Given the description of an element on the screen output the (x, y) to click on. 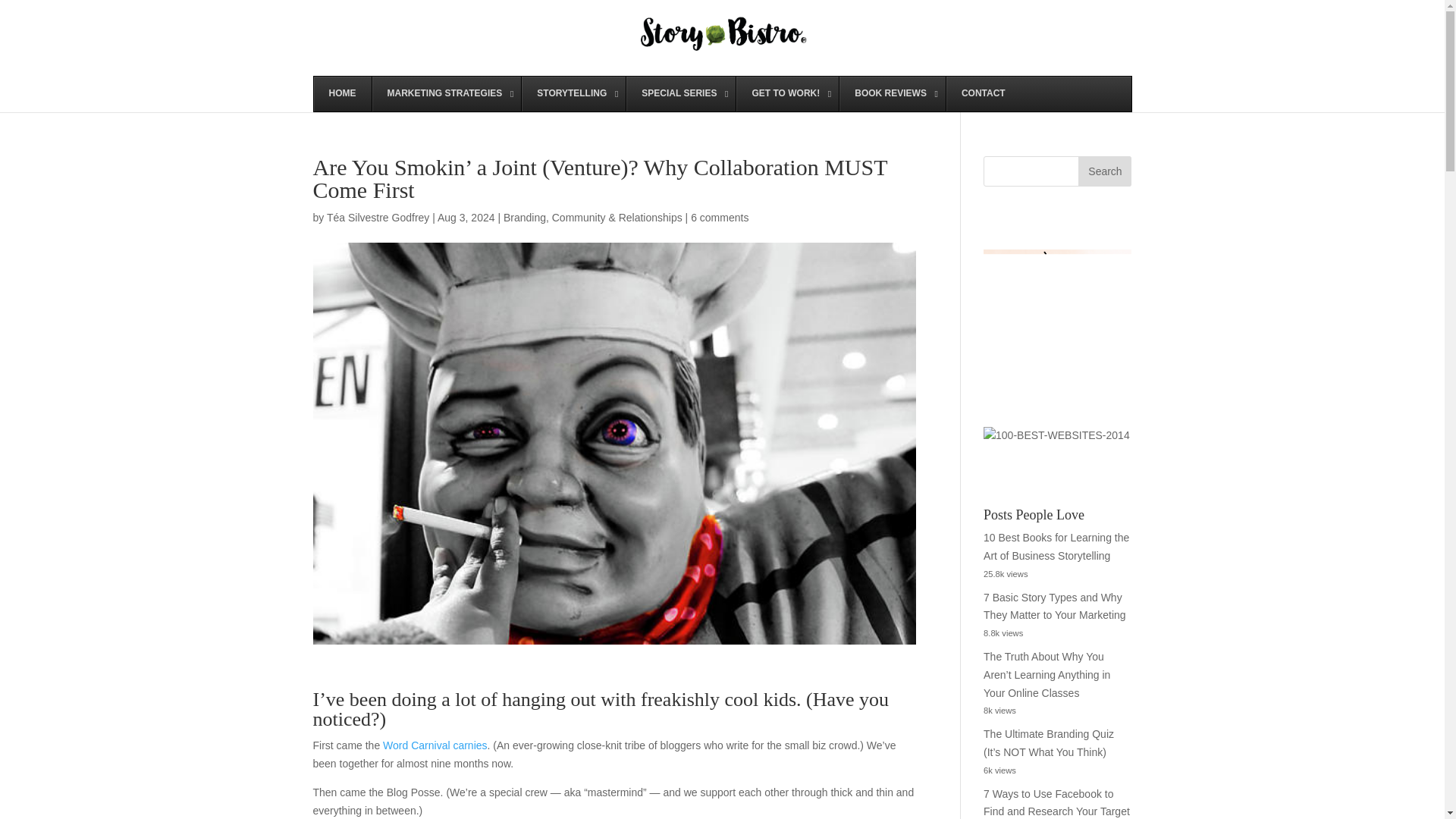
HOME (342, 93)
BOOK REVIEWS (891, 93)
MARKETING STRATEGIES (446, 93)
SPECIAL SERIES (680, 93)
CONTACT (982, 93)
Search (1104, 171)
Word Carnival carnies (434, 745)
6 comments (719, 217)
Branding (524, 217)
